Given the description of an element on the screen output the (x, y) to click on. 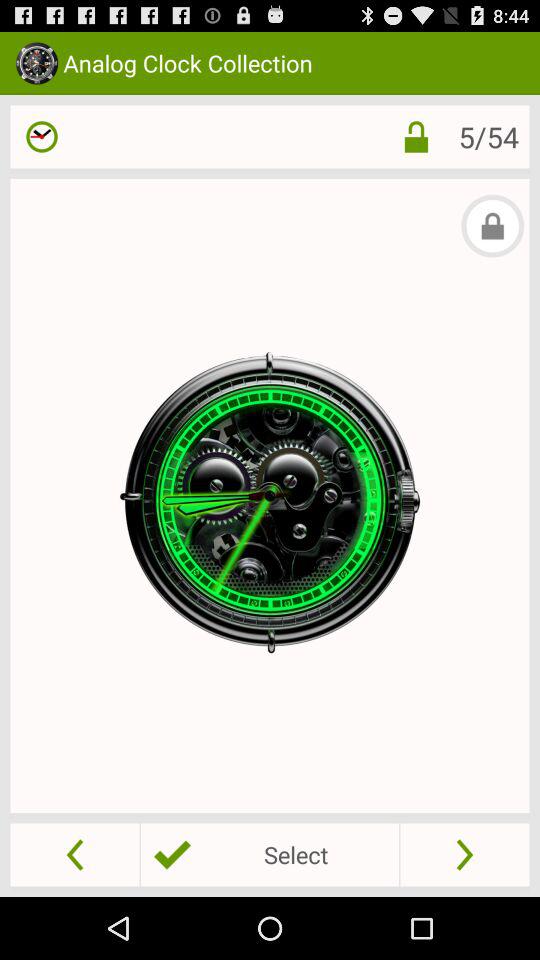
go forward option (464, 854)
